Given the description of an element on the screen output the (x, y) to click on. 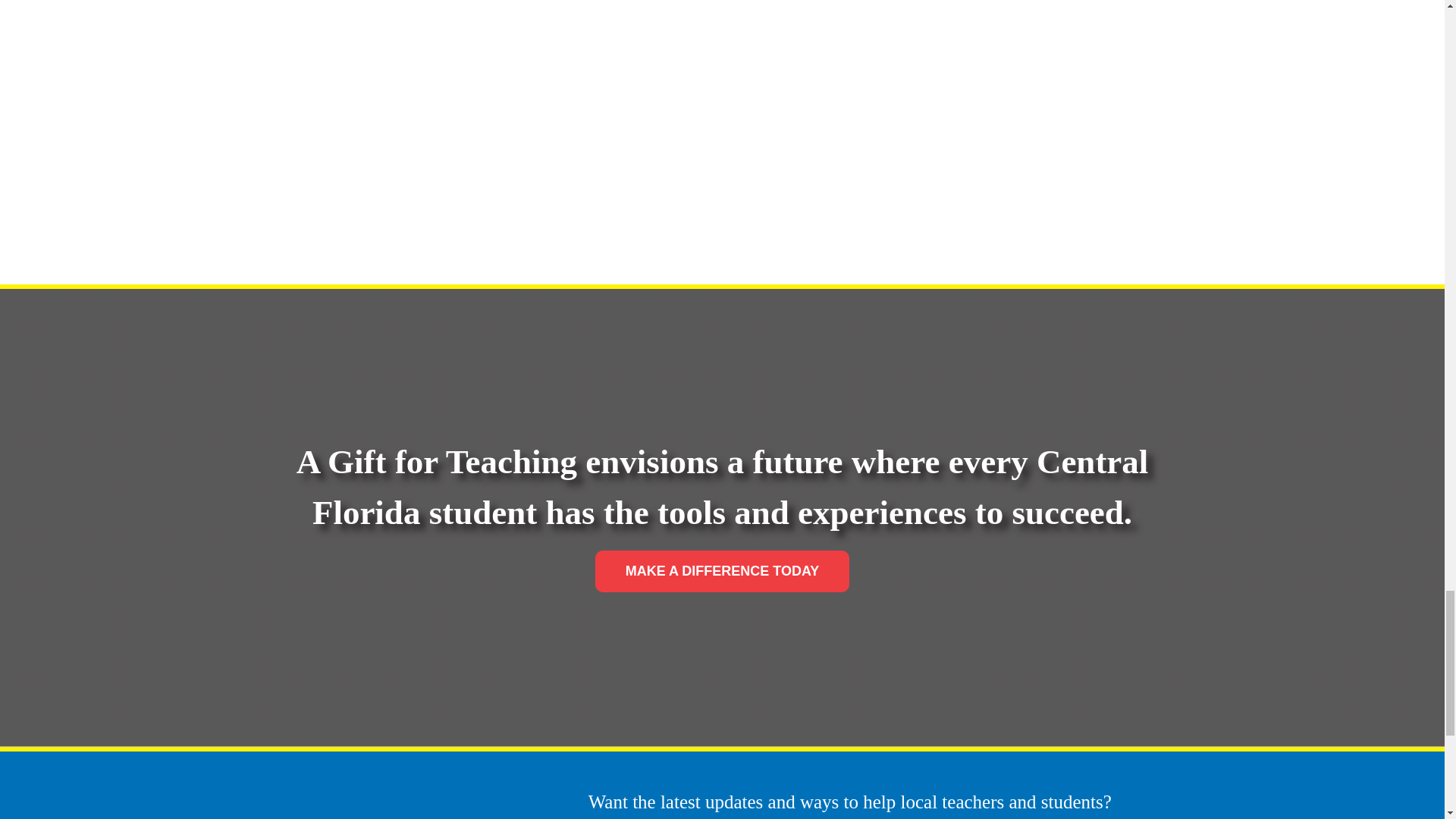
SUBSCRIBE (893, 814)
